Given the description of an element on the screen output the (x, y) to click on. 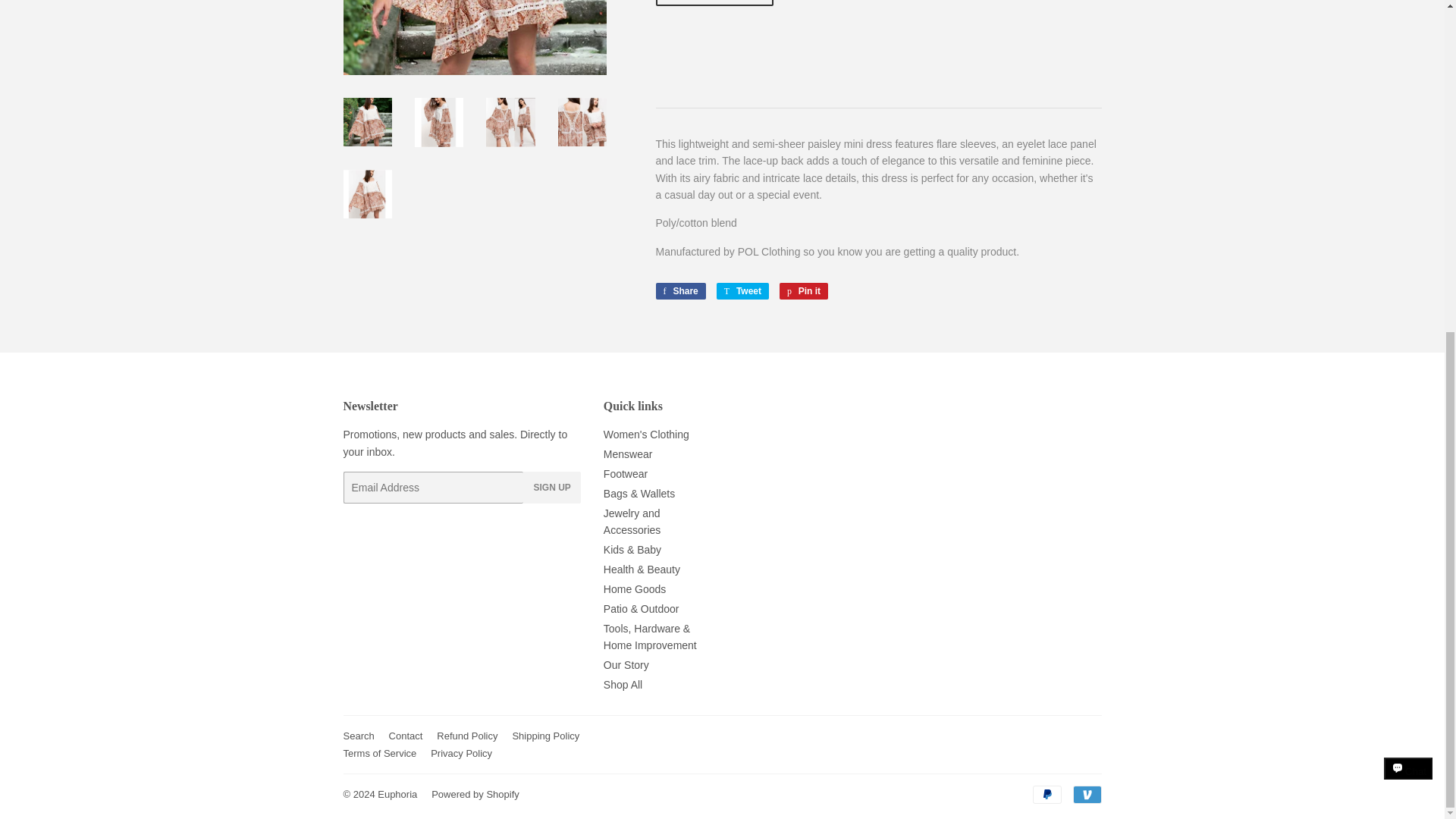
Tweet on Twitter (742, 290)
Shopify online store chat (1408, 228)
Share on Facebook (679, 290)
Venmo (1085, 794)
PayPal (1046, 794)
Pin on Pinterest (803, 290)
